Given the description of an element on the screen output the (x, y) to click on. 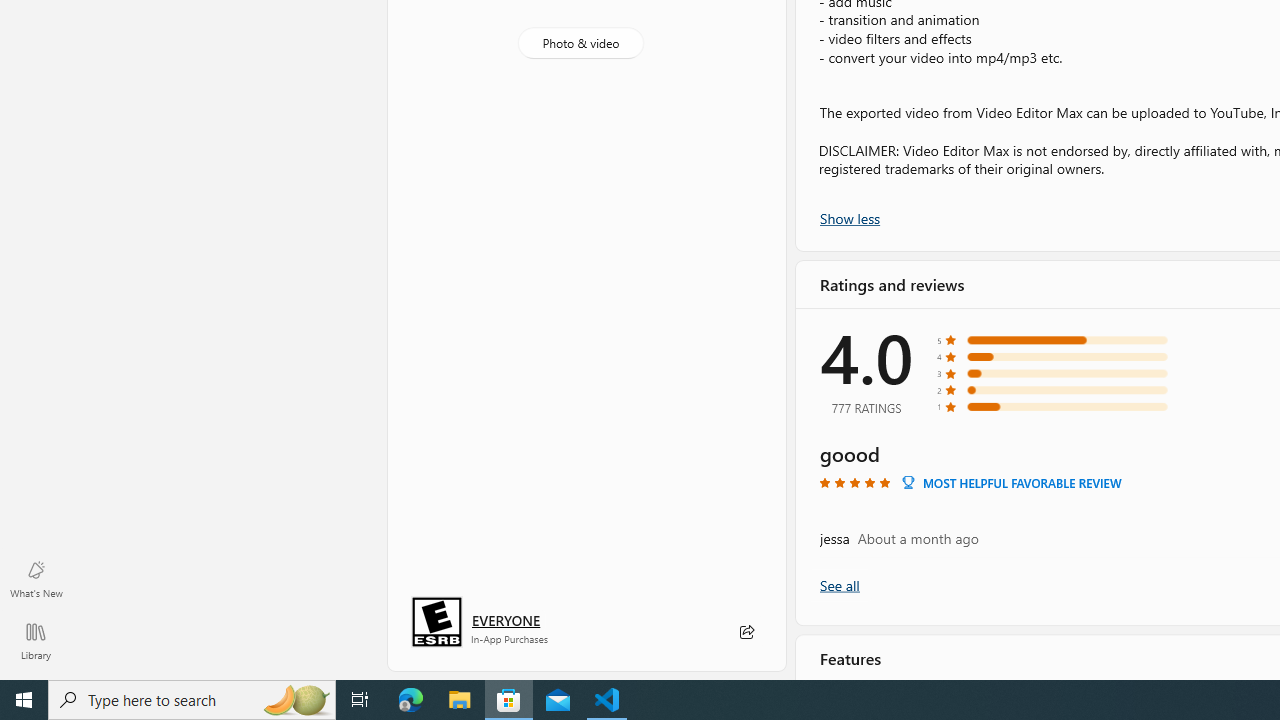
Share (746, 632)
What's New (35, 578)
Age rating: EVERYONE. Click for more information. (506, 619)
Show all ratings and reviews (838, 583)
Library (35, 640)
Photo & video (579, 43)
Show less (850, 217)
